Given the description of an element on the screen output the (x, y) to click on. 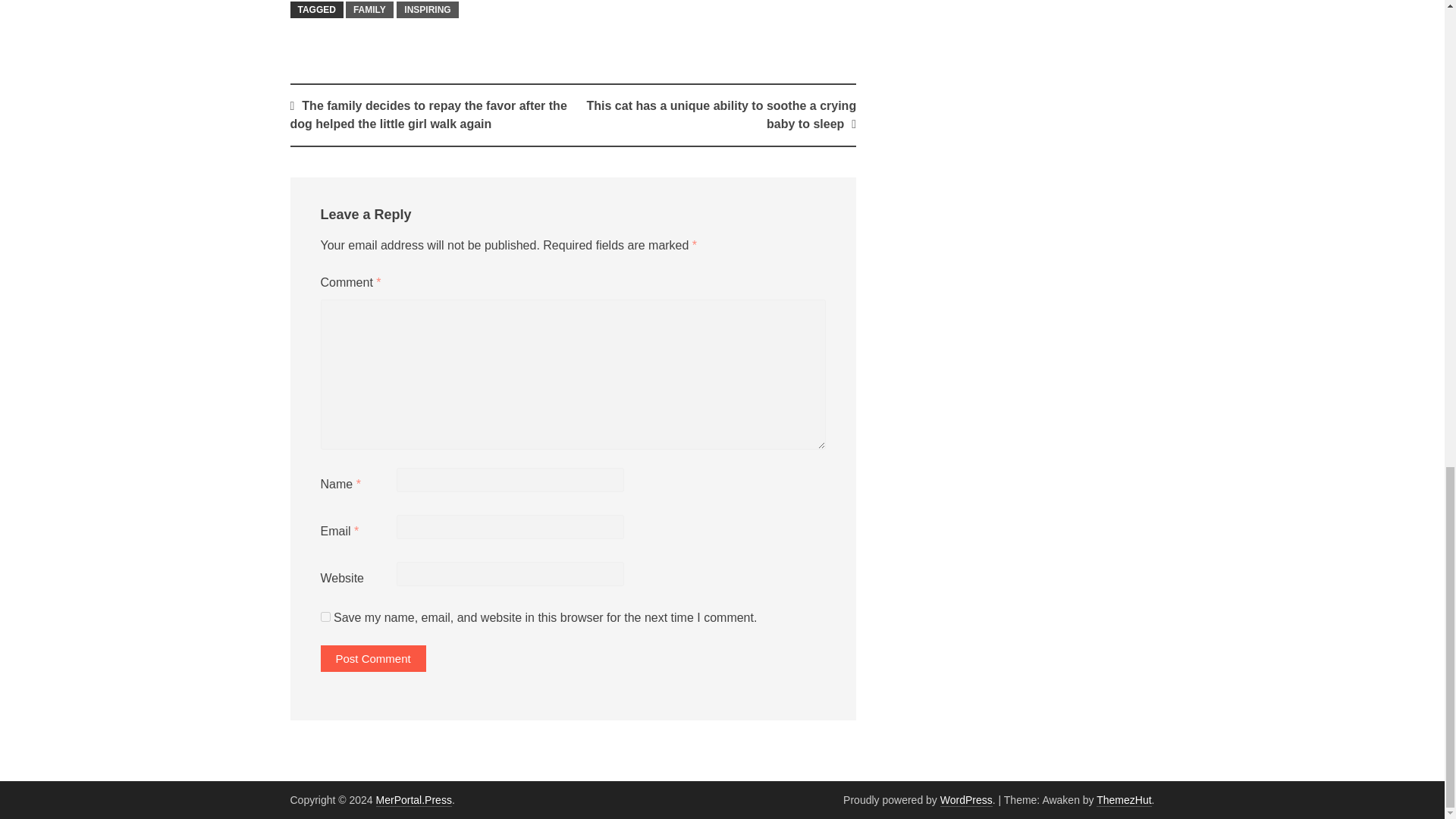
FAMILY (369, 9)
MerPortal.Press (413, 799)
yes (325, 616)
Post Comment (372, 658)
ThemezHut (1123, 799)
MerPortal.Press (413, 799)
WordPress (966, 799)
WordPress (966, 799)
